Given the description of an element on the screen output the (x, y) to click on. 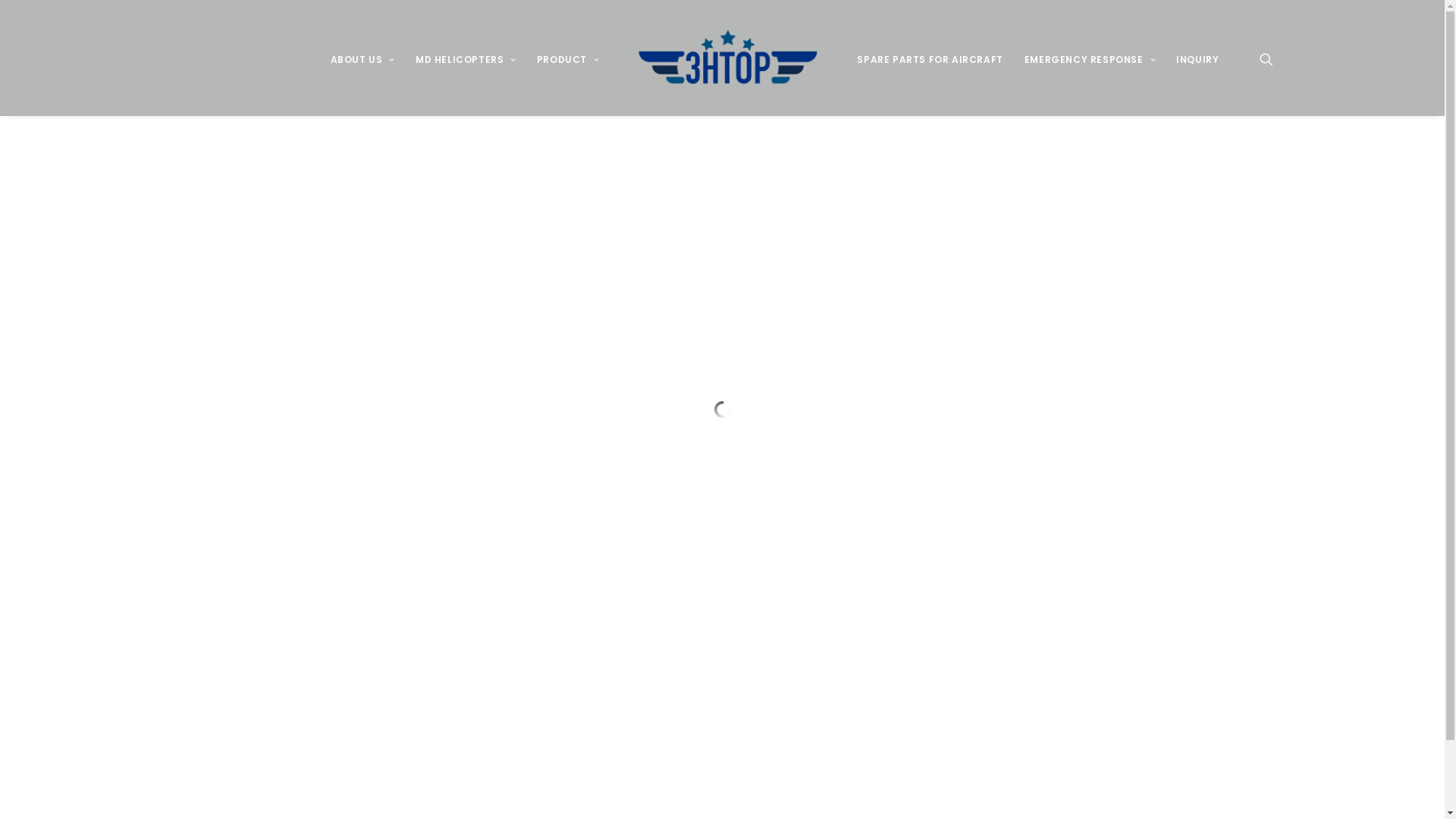
MD HELICOPTERS Element type: text (465, 57)
PRODUCT Element type: text (567, 57)
INQUIRY Element type: text (1197, 57)
SPARE PARTS FOR AIRCRAFT Element type: text (929, 57)
ABOUT US Element type: text (362, 57)
EMERGENCY RESPONSE Element type: text (1089, 57)
